Given the description of an element on the screen output the (x, y) to click on. 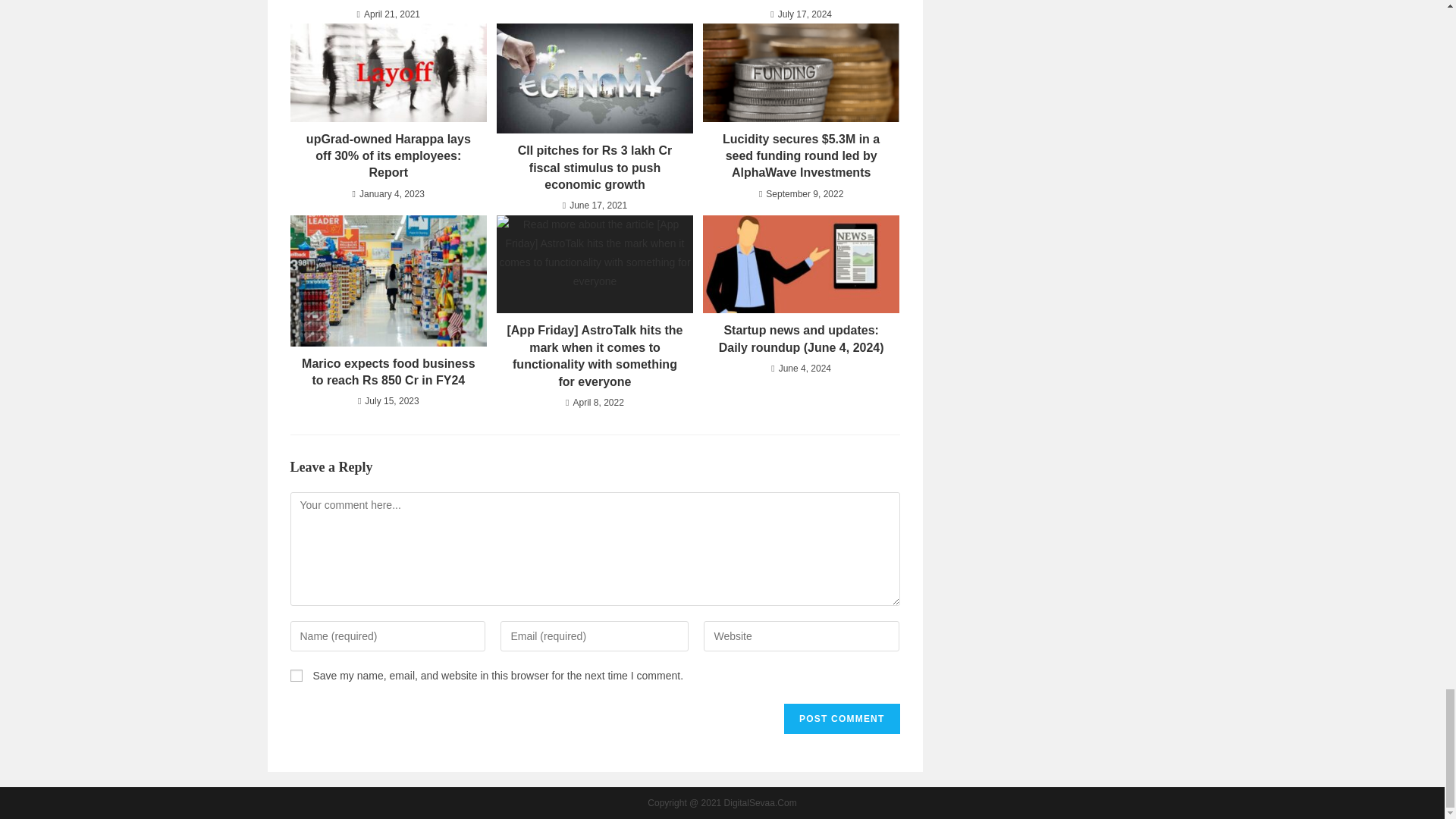
yes (295, 675)
Post Comment (841, 718)
